Given the description of an element on the screen output the (x, y) to click on. 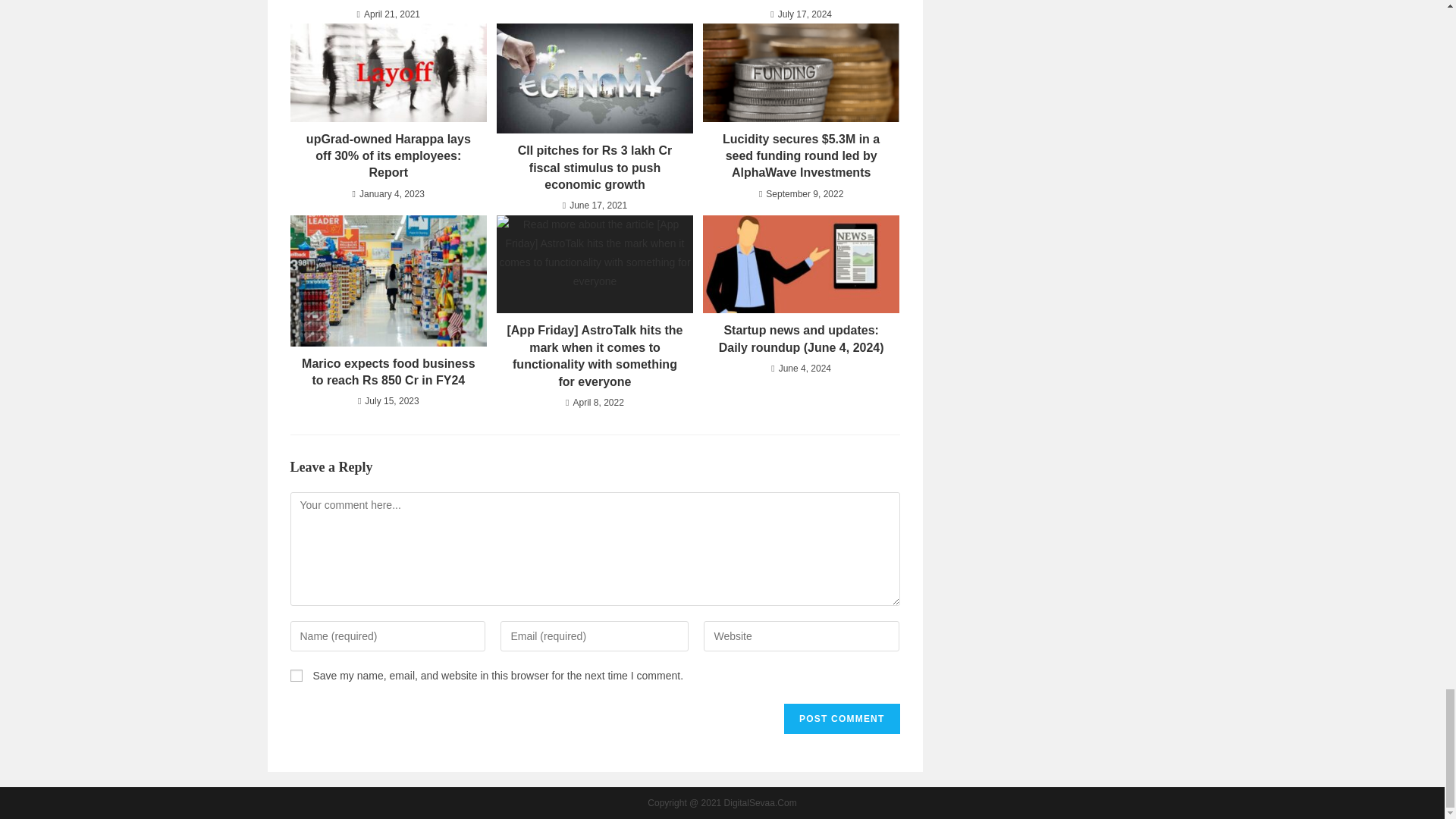
yes (295, 675)
Post Comment (841, 718)
